Given the description of an element on the screen output the (x, y) to click on. 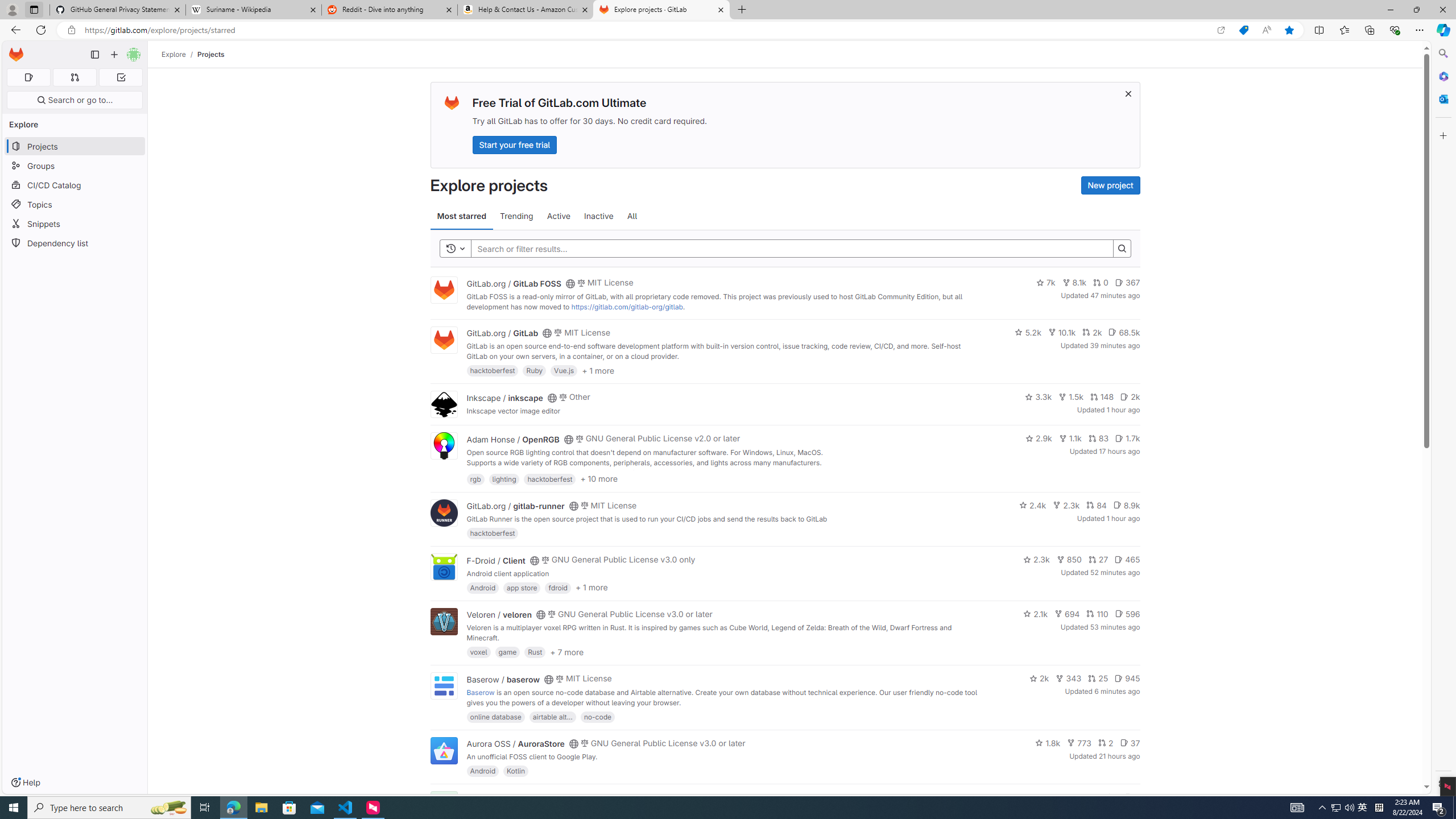
2.1k (1035, 613)
367 (1127, 282)
27 (1097, 559)
GitLab.org / GitLab (501, 333)
Groups (74, 165)
Dependency list (74, 242)
Rust (535, 651)
Class: s16 (568, 798)
Explore (173, 53)
Side bar (1443, 418)
